Given the description of an element on the screen output the (x, y) to click on. 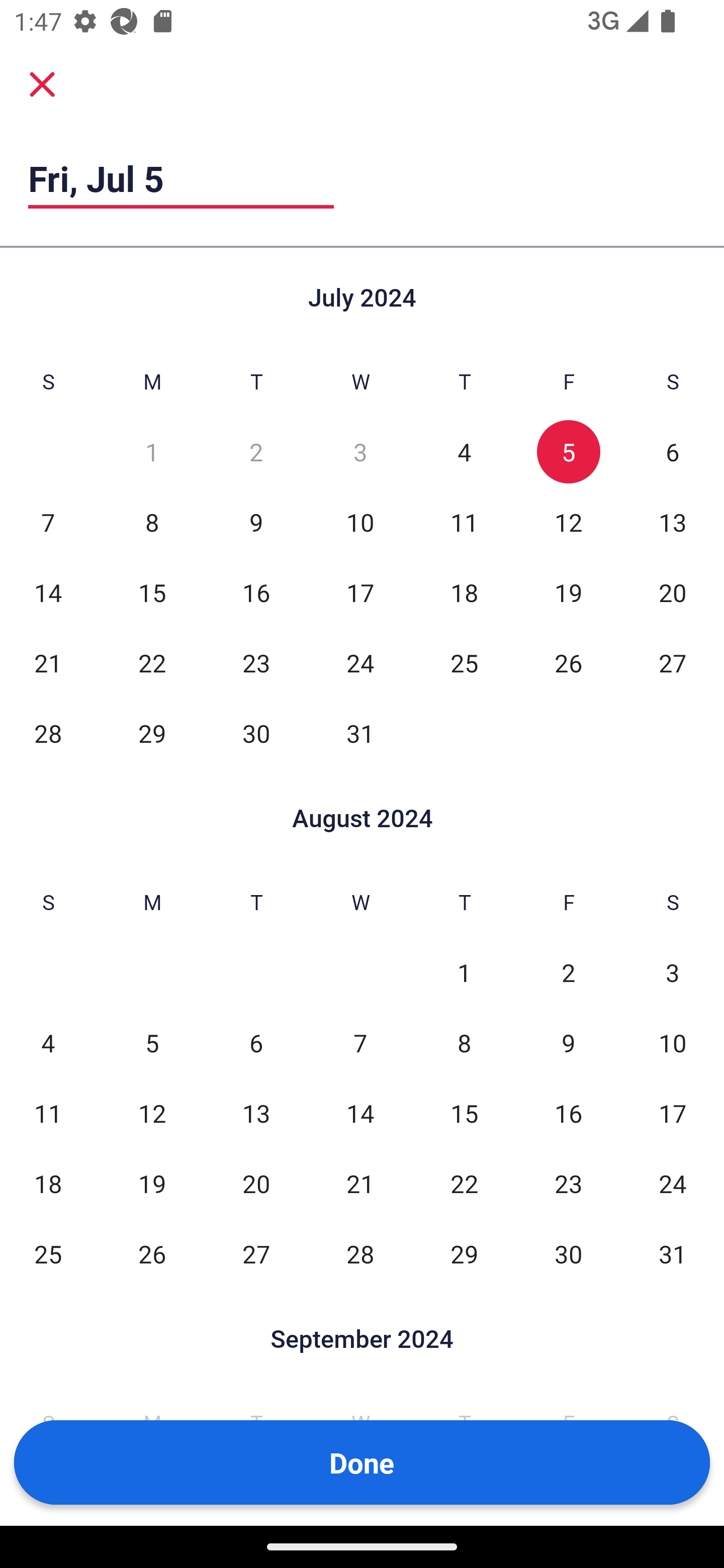
Cancel (42, 84)
Fri, Jul 5 (180, 178)
1 Mon, Jul 1, Not Selected (152, 452)
2 Tue, Jul 2, Not Selected (256, 452)
3 Wed, Jul 3, Not Selected (360, 452)
4 Thu, Jul 4, Not Selected (464, 452)
5 Fri, Jul 5, Selected (568, 452)
6 Sat, Jul 6, Not Selected (672, 452)
7 Sun, Jul 7, Not Selected (48, 521)
8 Mon, Jul 8, Not Selected (152, 521)
9 Tue, Jul 9, Not Selected (256, 521)
10 Wed, Jul 10, Not Selected (360, 521)
11 Thu, Jul 11, Not Selected (464, 521)
12 Fri, Jul 12, Not Selected (568, 521)
13 Sat, Jul 13, Not Selected (672, 521)
14 Sun, Jul 14, Not Selected (48, 591)
15 Mon, Jul 15, Not Selected (152, 591)
16 Tue, Jul 16, Not Selected (256, 591)
17 Wed, Jul 17, Not Selected (360, 591)
18 Thu, Jul 18, Not Selected (464, 591)
19 Fri, Jul 19, Not Selected (568, 591)
20 Sat, Jul 20, Not Selected (672, 591)
21 Sun, Jul 21, Not Selected (48, 662)
22 Mon, Jul 22, Not Selected (152, 662)
23 Tue, Jul 23, Not Selected (256, 662)
24 Wed, Jul 24, Not Selected (360, 662)
25 Thu, Jul 25, Not Selected (464, 662)
26 Fri, Jul 26, Not Selected (568, 662)
27 Sat, Jul 27, Not Selected (672, 662)
28 Sun, Jul 28, Not Selected (48, 732)
29 Mon, Jul 29, Not Selected (152, 732)
30 Tue, Jul 30, Not Selected (256, 732)
31 Wed, Jul 31, Not Selected (360, 732)
1 Thu, Aug 1, Not Selected (464, 972)
2 Fri, Aug 2, Not Selected (568, 972)
3 Sat, Aug 3, Not Selected (672, 972)
4 Sun, Aug 4, Not Selected (48, 1043)
5 Mon, Aug 5, Not Selected (152, 1043)
6 Tue, Aug 6, Not Selected (256, 1043)
7 Wed, Aug 7, Not Selected (360, 1043)
8 Thu, Aug 8, Not Selected (464, 1043)
9 Fri, Aug 9, Not Selected (568, 1043)
10 Sat, Aug 10, Not Selected (672, 1043)
11 Sun, Aug 11, Not Selected (48, 1112)
12 Mon, Aug 12, Not Selected (152, 1112)
13 Tue, Aug 13, Not Selected (256, 1112)
14 Wed, Aug 14, Not Selected (360, 1112)
15 Thu, Aug 15, Not Selected (464, 1112)
16 Fri, Aug 16, Not Selected (568, 1112)
17 Sat, Aug 17, Not Selected (672, 1112)
18 Sun, Aug 18, Not Selected (48, 1182)
19 Mon, Aug 19, Not Selected (152, 1182)
20 Tue, Aug 20, Not Selected (256, 1182)
21 Wed, Aug 21, Not Selected (360, 1182)
22 Thu, Aug 22, Not Selected (464, 1182)
23 Fri, Aug 23, Not Selected (568, 1182)
24 Sat, Aug 24, Not Selected (672, 1182)
25 Sun, Aug 25, Not Selected (48, 1253)
26 Mon, Aug 26, Not Selected (152, 1253)
27 Tue, Aug 27, Not Selected (256, 1253)
28 Wed, Aug 28, Not Selected (360, 1253)
29 Thu, Aug 29, Not Selected (464, 1253)
30 Fri, Aug 30, Not Selected (568, 1253)
31 Sat, Aug 31, Not Selected (672, 1253)
Done Button Done (361, 1462)
